Given the description of an element on the screen output the (x, y) to click on. 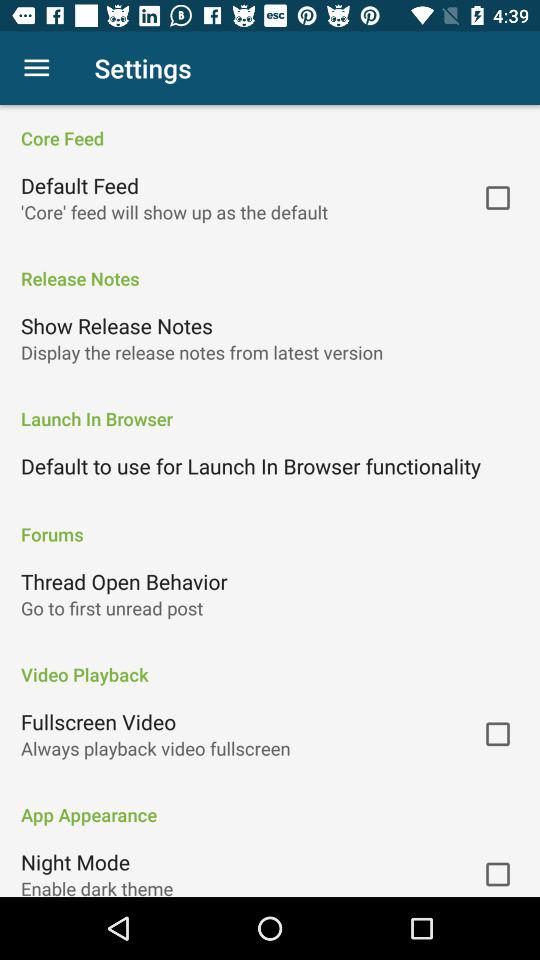
turn on the thread open behavior icon (124, 581)
